Given the description of an element on the screen output the (x, y) to click on. 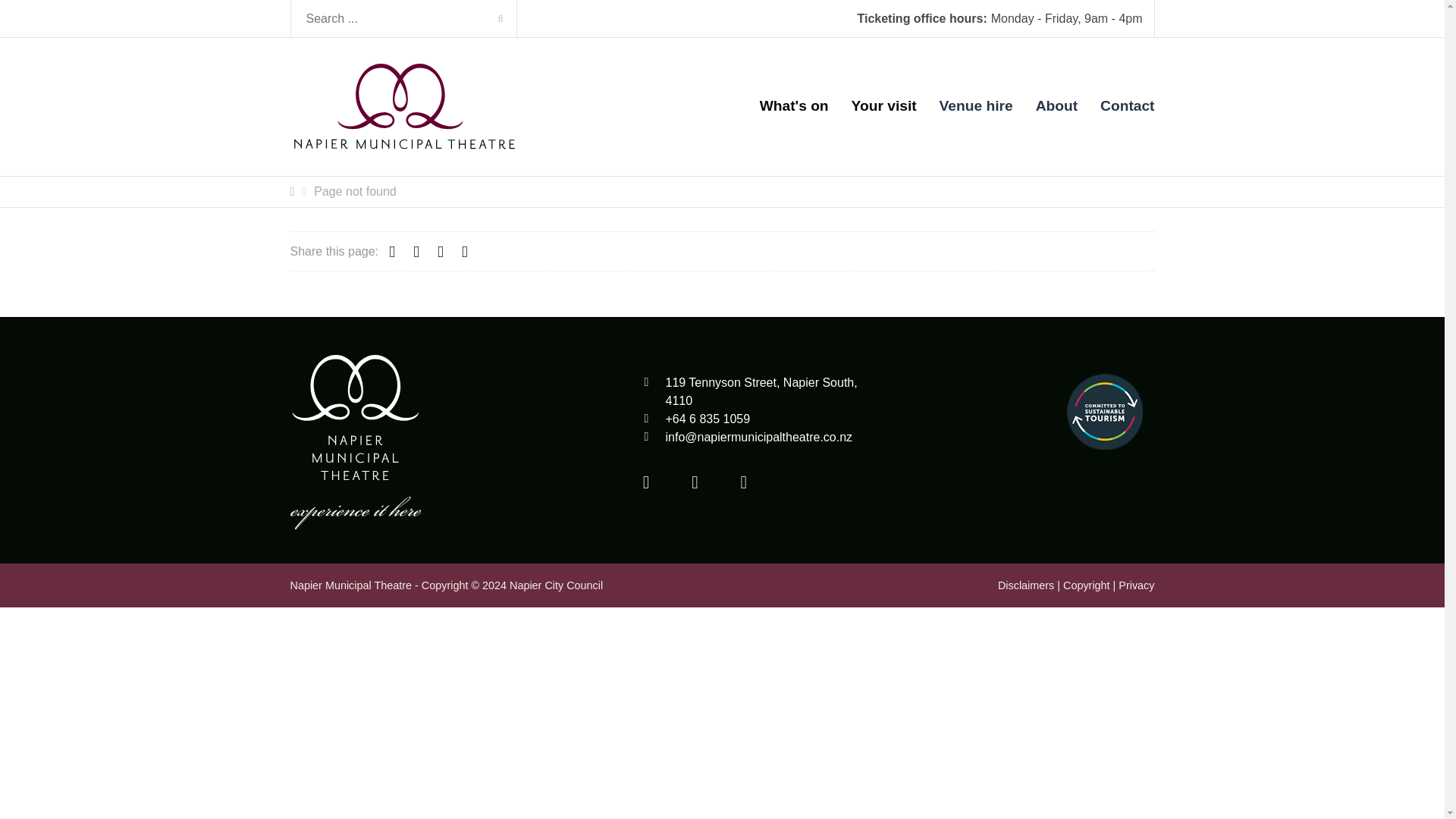
Your visit (884, 106)
What's on (794, 106)
Share on LinkedIn (439, 250)
Share on LinkedIn (439, 250)
Share on Twitter (416, 250)
119 Tennyson Street, Napier South, 4110 (761, 391)
Share on Facebook (391, 250)
Contact (1127, 106)
Page not found (355, 191)
Follow us on Facebook (645, 482)
